Given the description of an element on the screen output the (x, y) to click on. 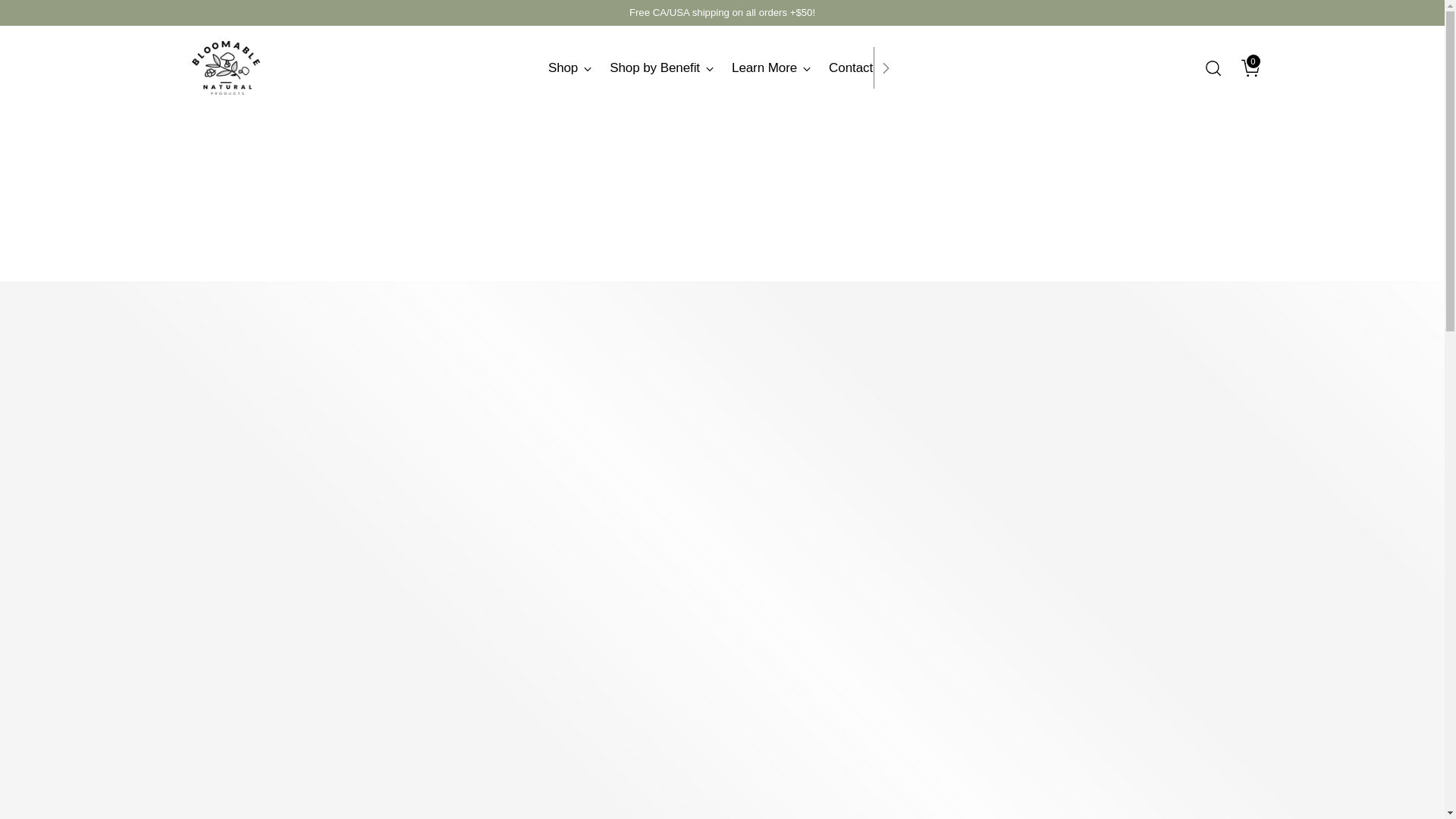
Shop (569, 68)
Learn More (771, 68)
Shop by Benefit (721, 67)
0 (661, 68)
Contact (1245, 68)
